Given the description of an element on the screen output the (x, y) to click on. 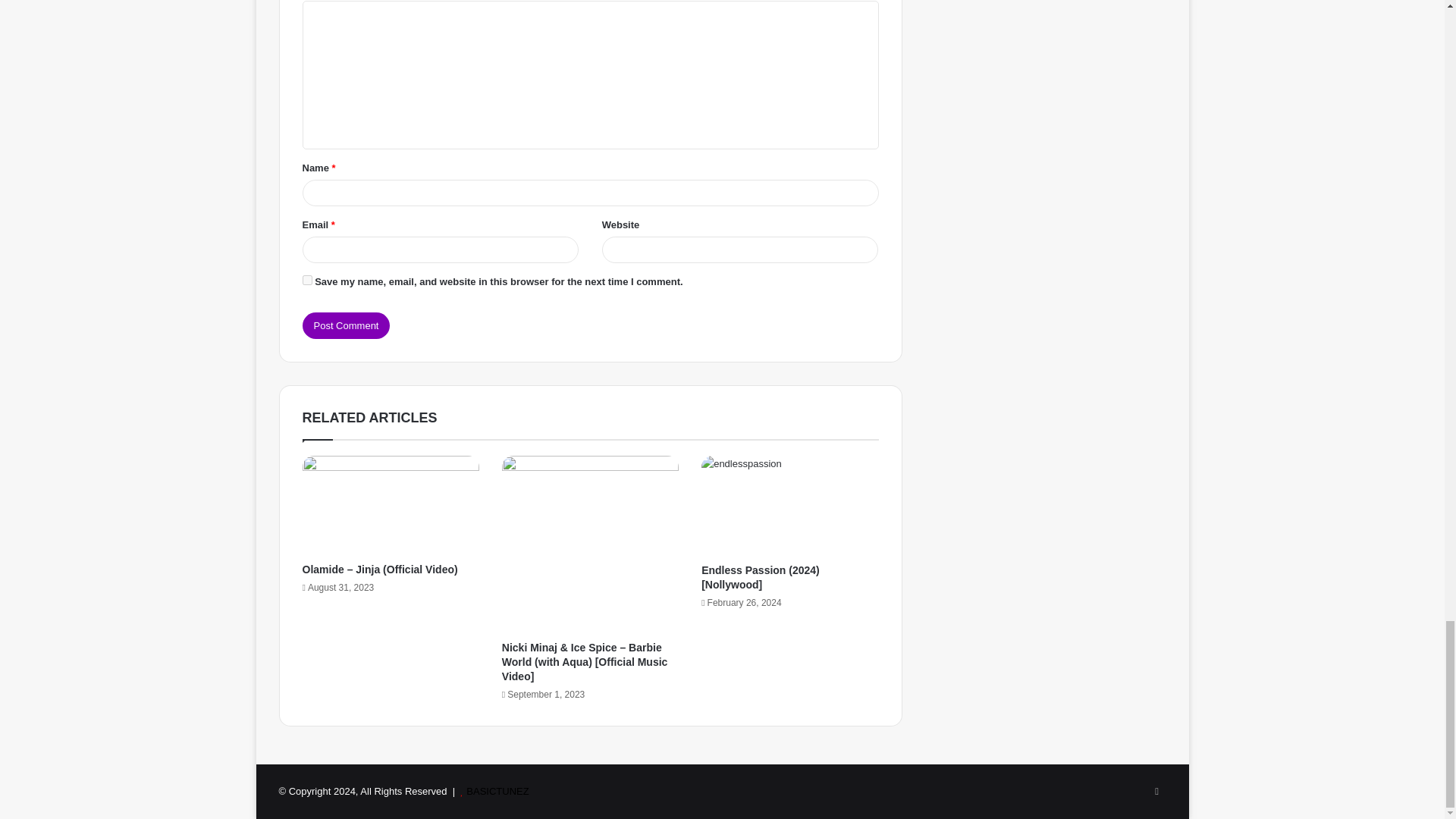
Post Comment (345, 325)
yes (306, 280)
Post Comment (345, 325)
